Given the description of an element on the screen output the (x, y) to click on. 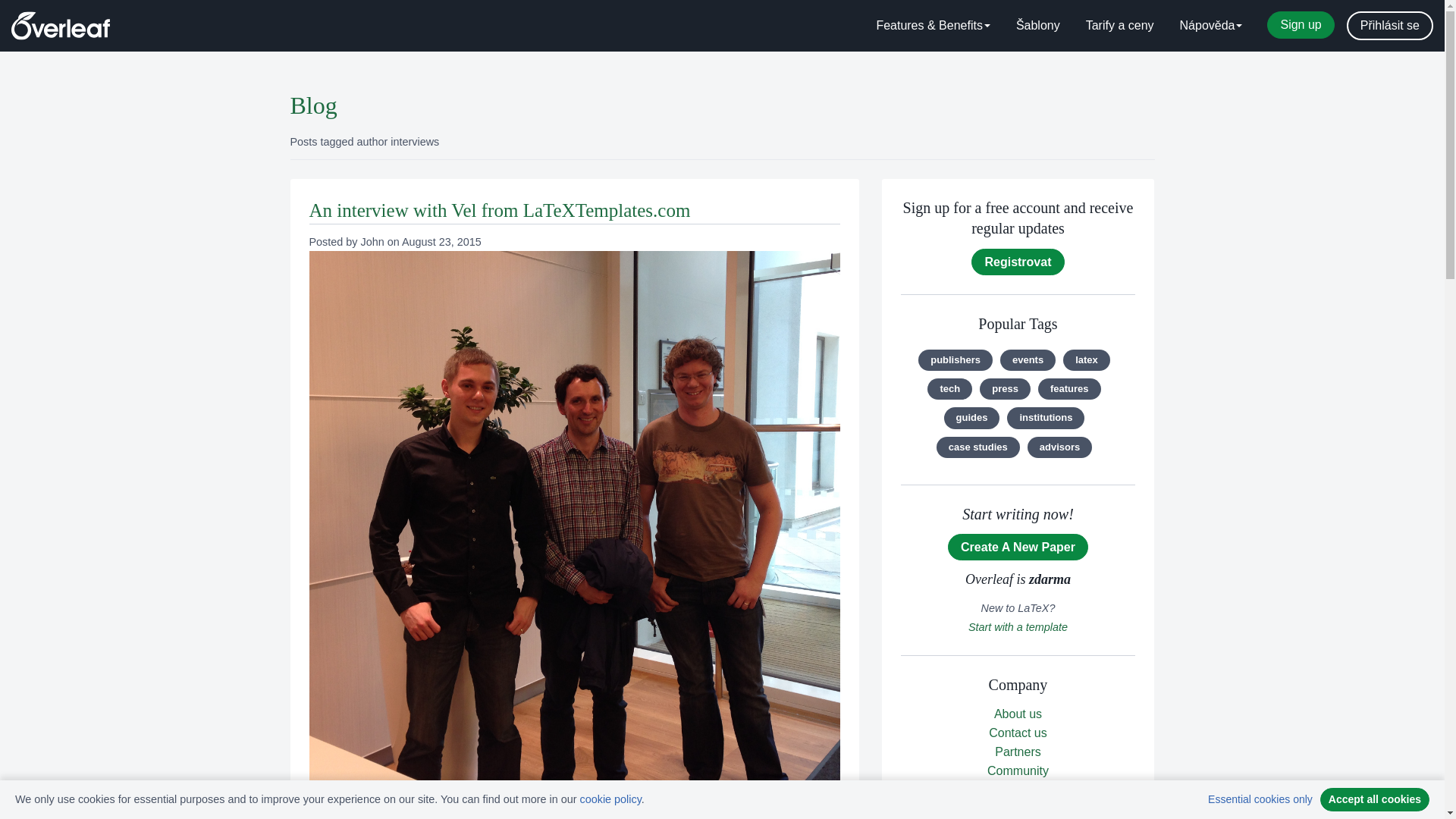
Sign up (1299, 24)
Registrovat (1017, 261)
Tarify a ceny (1120, 25)
publishers (955, 360)
Blog (312, 104)
events (1027, 360)
An interview with Vel from LaTeXTemplates.com (499, 209)
